Given the description of an element on the screen output the (x, y) to click on. 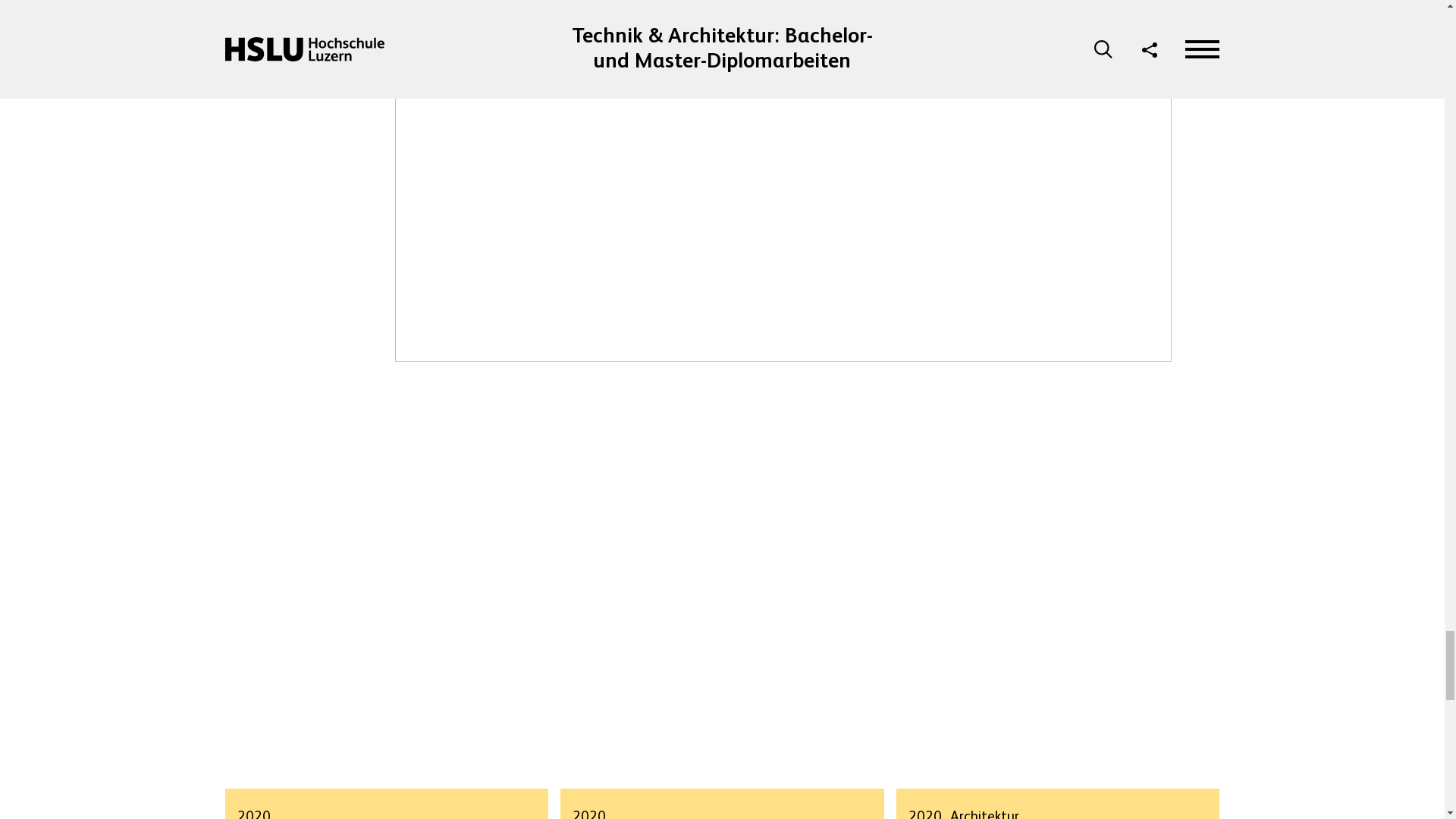
Mehr zu Architektur: Bachelor-Diplomarbeiten 2020 erfahren (1058, 638)
Mehr zu Formula Student Electric erfahren (386, 638)
